Given the description of an element on the screen output the (x, y) to click on. 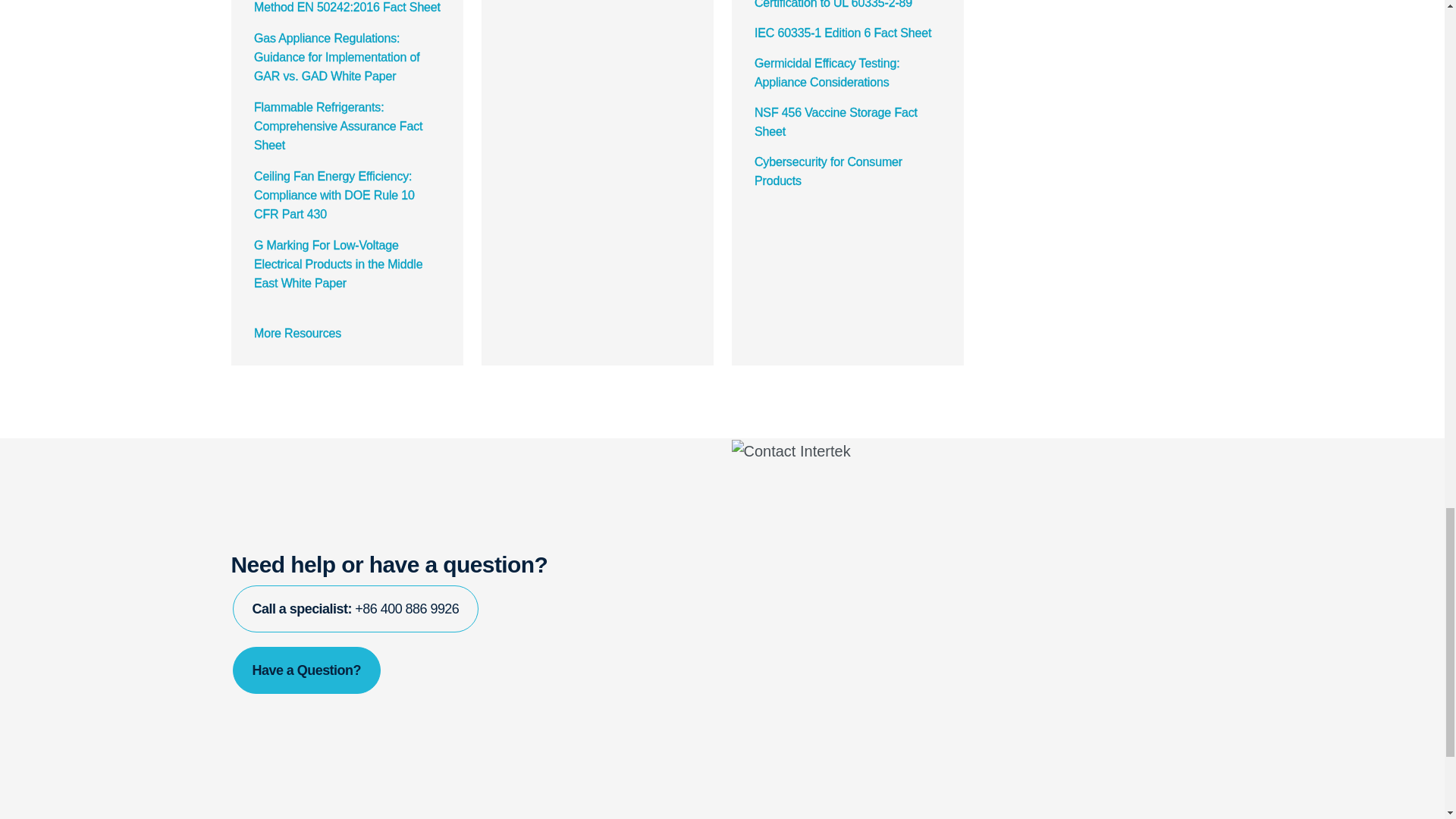
Phone (355, 608)
